Given the description of an element on the screen output the (x, y) to click on. 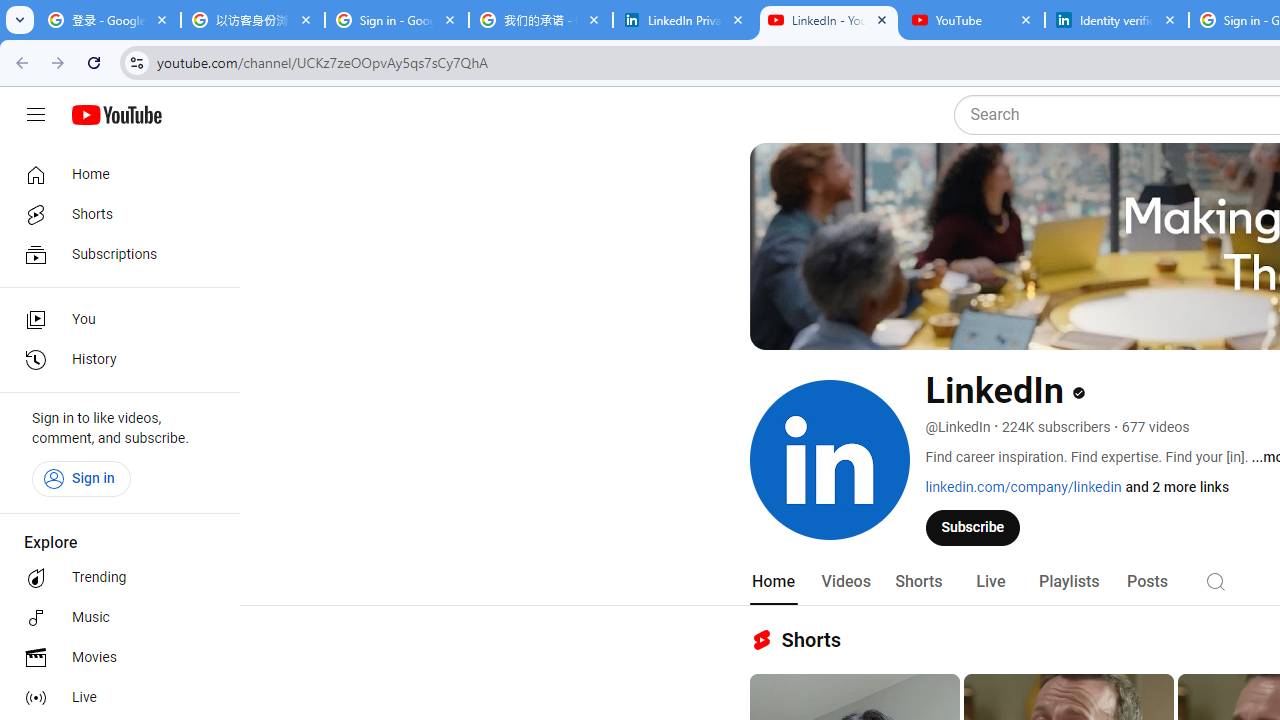
Home (772, 581)
View site information (136, 62)
Home (113, 174)
Subscribe (973, 527)
Guide (35, 115)
Live (113, 697)
and 2 more links (1177, 487)
Videos (845, 581)
You (113, 319)
LinkedIn Privacy Policy (684, 20)
YouTube (972, 20)
LinkedIn - YouTube (828, 20)
